Given the description of an element on the screen output the (x, y) to click on. 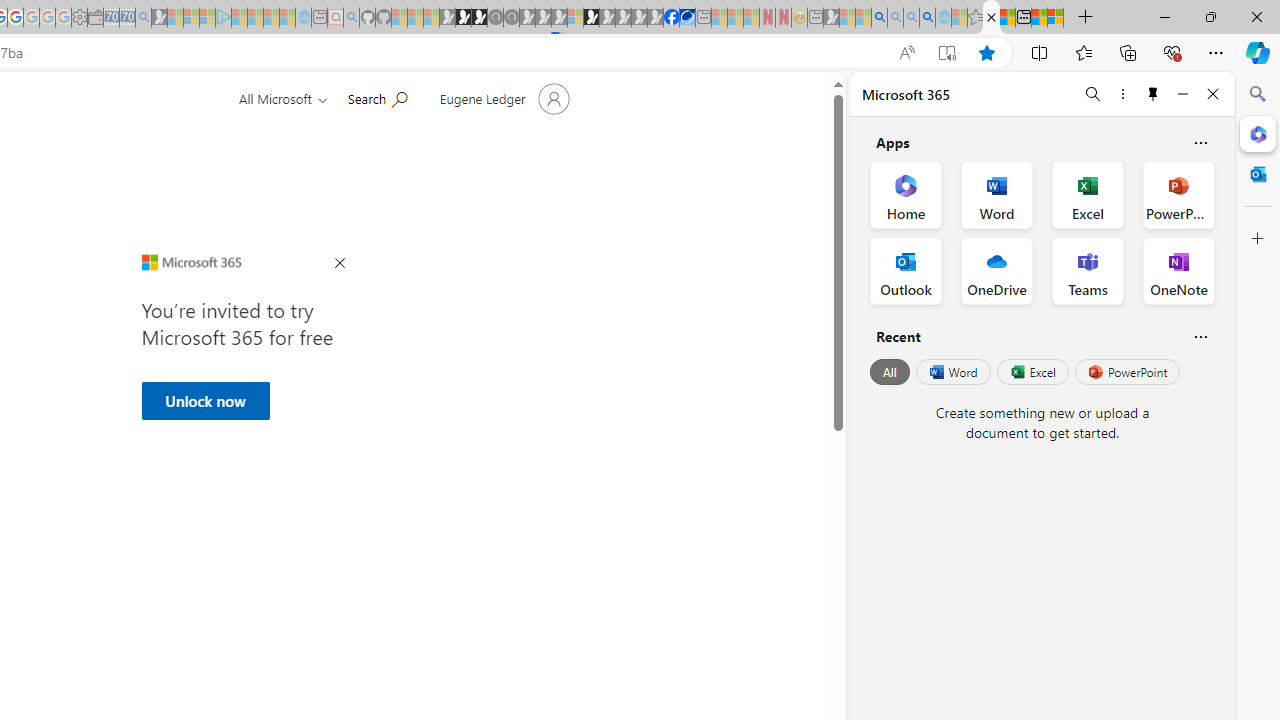
Close Customize pane (1258, 239)
Home | Sky Blue Bikes - Sky Blue Bikes - Sleeping (303, 17)
Nordace | Facebook (671, 17)
Close Ad (339, 264)
New tab - Sleeping (815, 17)
OneNote Office App (1178, 270)
Close Outlook pane (1258, 174)
Favorites - Sleeping (975, 17)
PowerPoint Office App (1178, 194)
Bing AI - Search (879, 17)
